Given the description of an element on the screen output the (x, y) to click on. 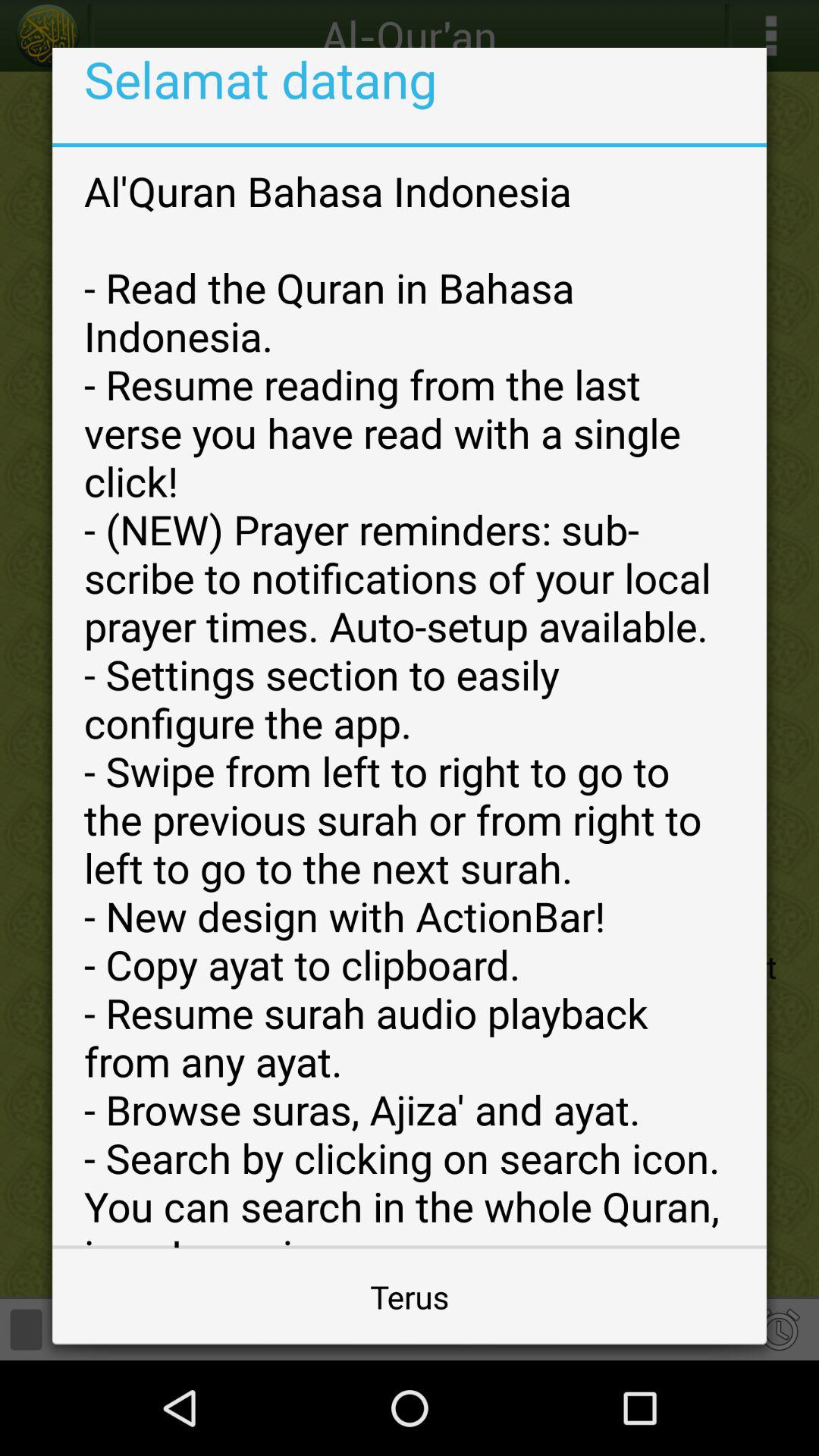
swipe until terus icon (409, 1296)
